Given the description of an element on the screen output the (x, y) to click on. 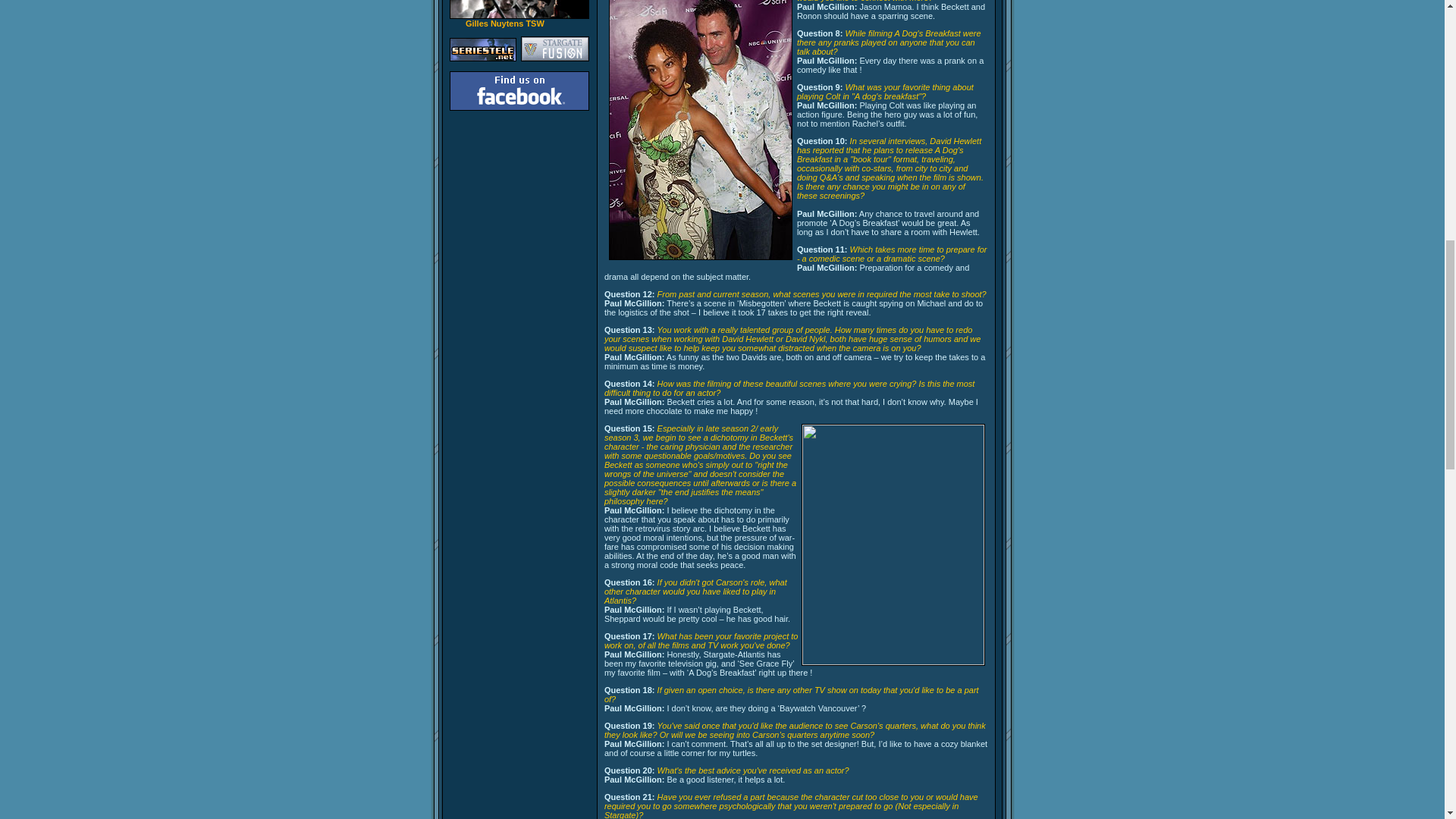
Gilles Nuytens (504, 22)
The Scifi World on Facebook! (518, 90)
Gilles Nuytens TSW (504, 22)
